Given the description of an element on the screen output the (x, y) to click on. 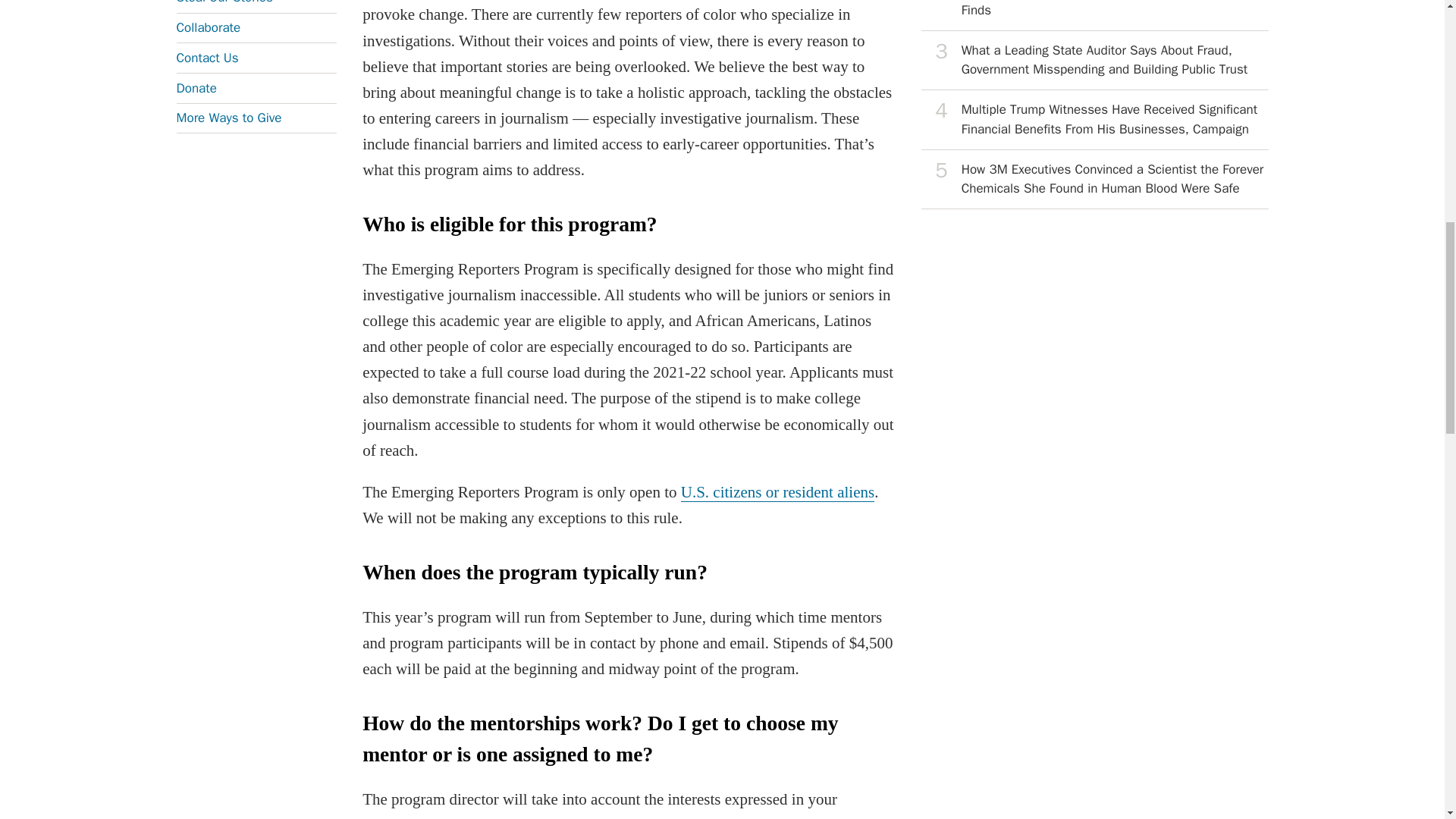
View this (1094, 179)
View this (1094, 15)
View this (1094, 60)
View this (1094, 119)
